Given the description of an element on the screen output the (x, y) to click on. 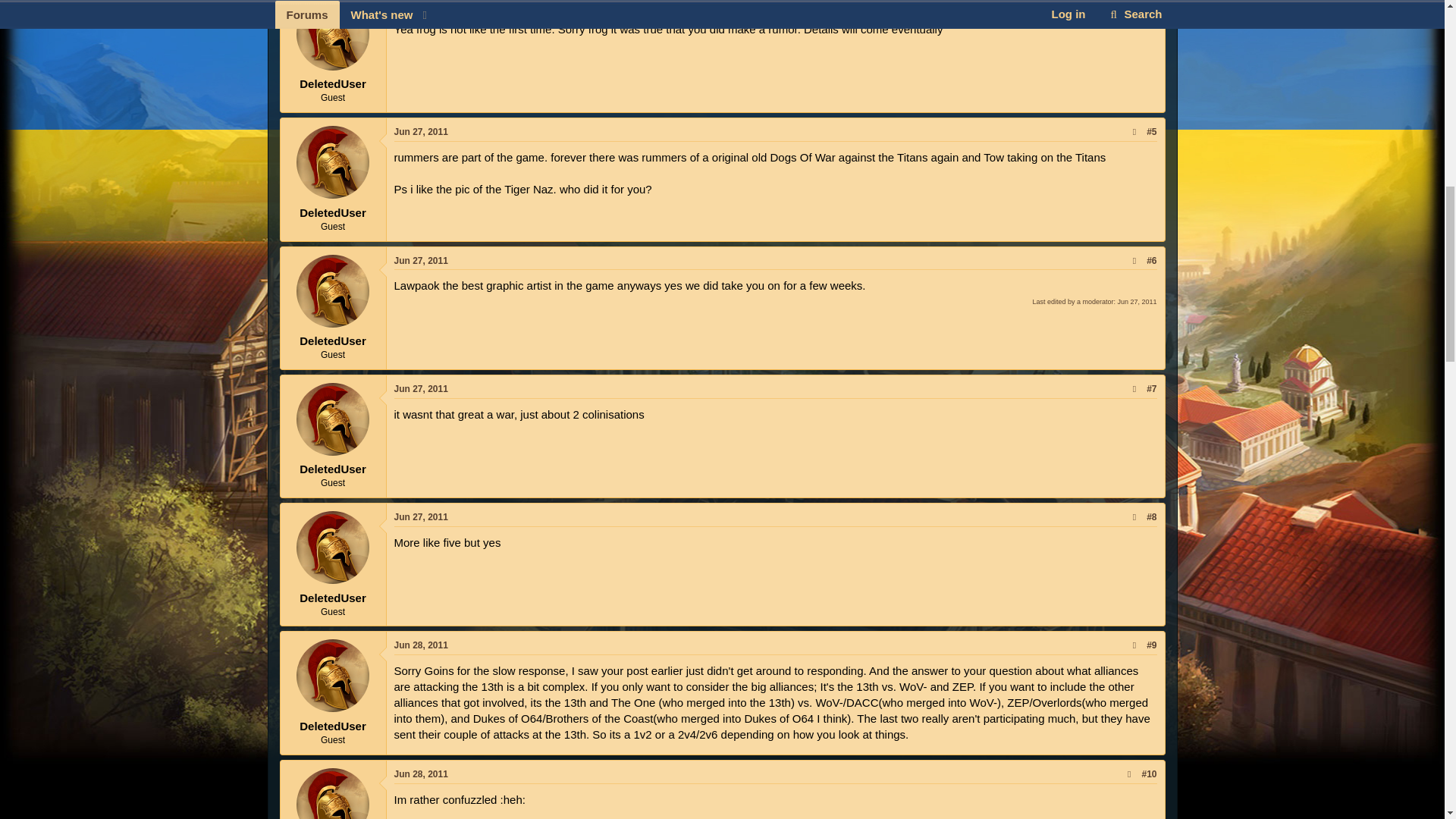
Jun 27, 2011 at 7:16 PM (421, 4)
DeletedUser (333, 290)
DeletedUser (333, 35)
DeletedUser (333, 162)
Jun 27, 2011 at 7:27 PM (421, 131)
